Given the description of an element on the screen output the (x, y) to click on. 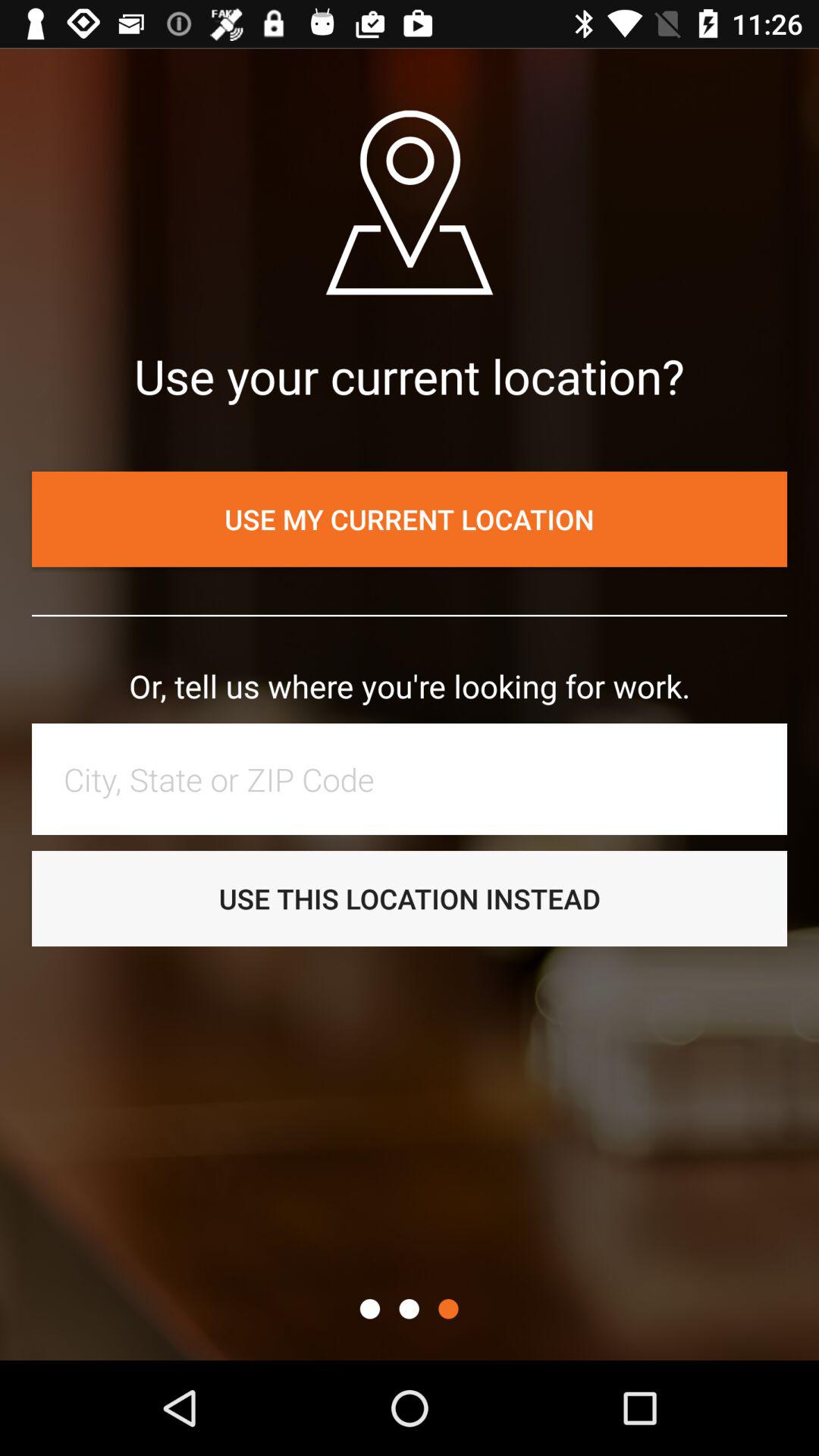
turn off the icon below use this location item (409, 1308)
